Given the description of an element on the screen output the (x, y) to click on. 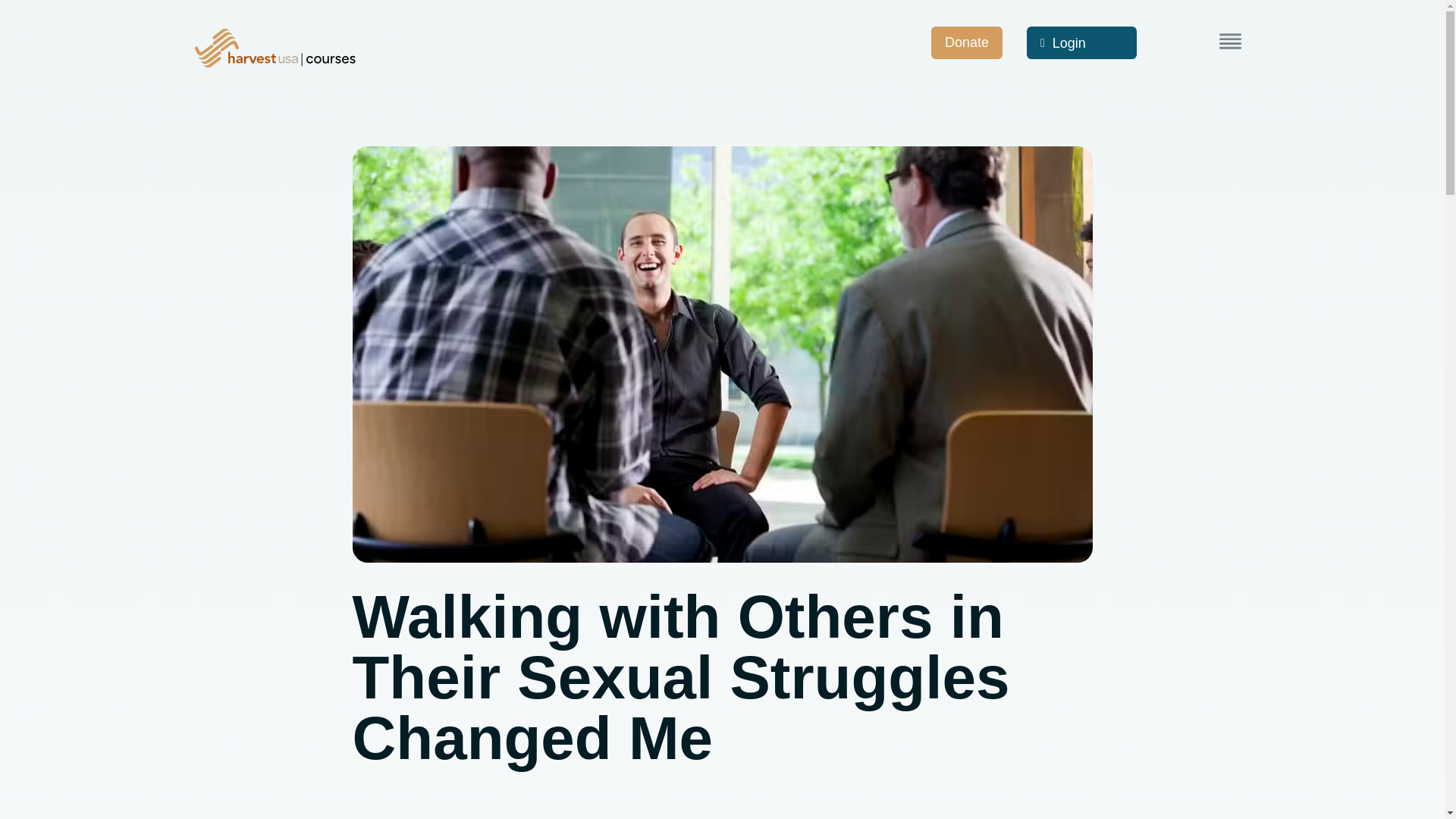
Login (1081, 42)
Learn More (1230, 41)
Donate (967, 42)
